Given the description of an element on the screen output the (x, y) to click on. 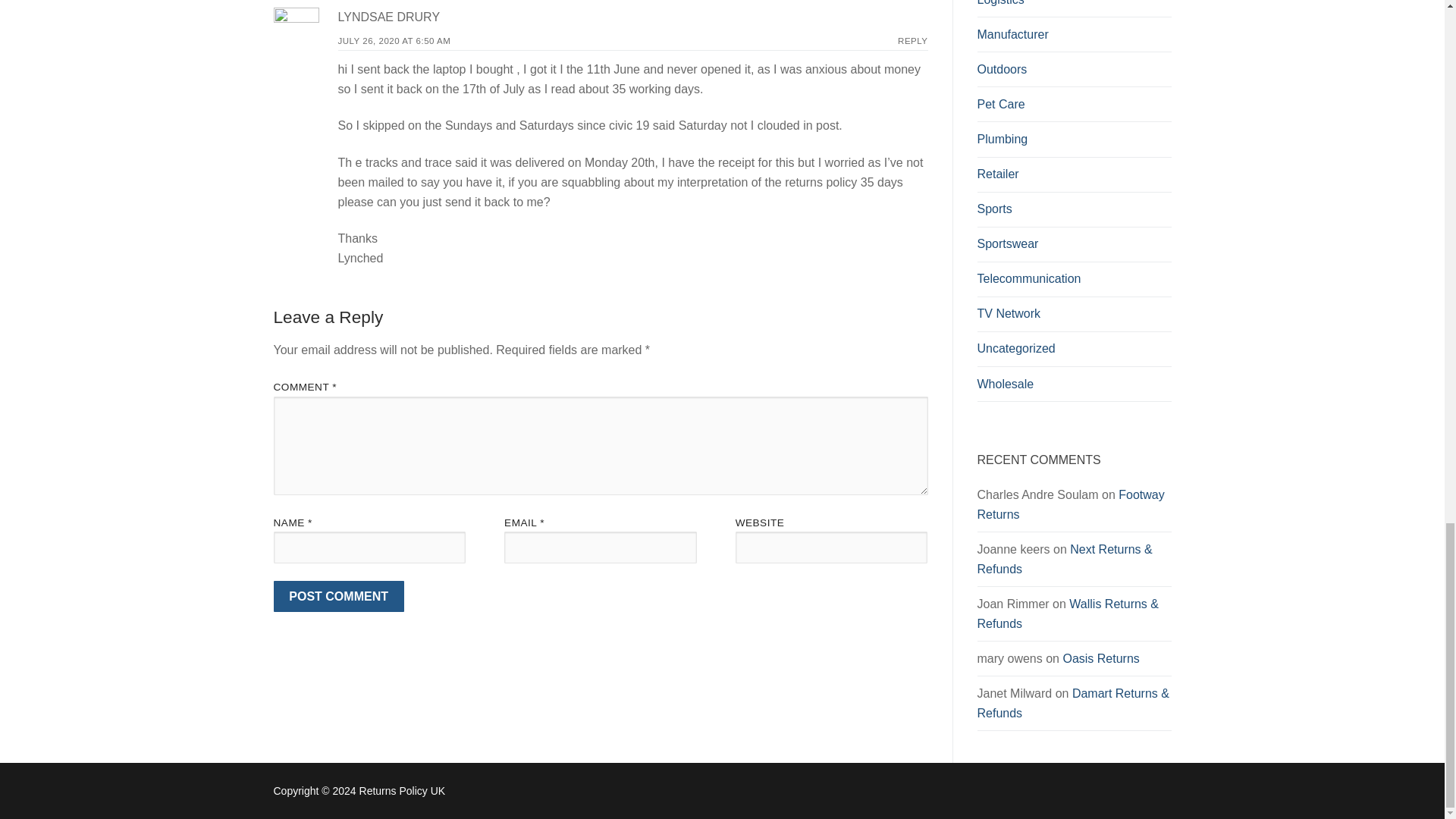
Post Comment (338, 596)
REPLY (912, 40)
JULY 26, 2020 AT 6:50 AM (394, 40)
Post Comment (338, 596)
